Given the description of an element on the screen output the (x, y) to click on. 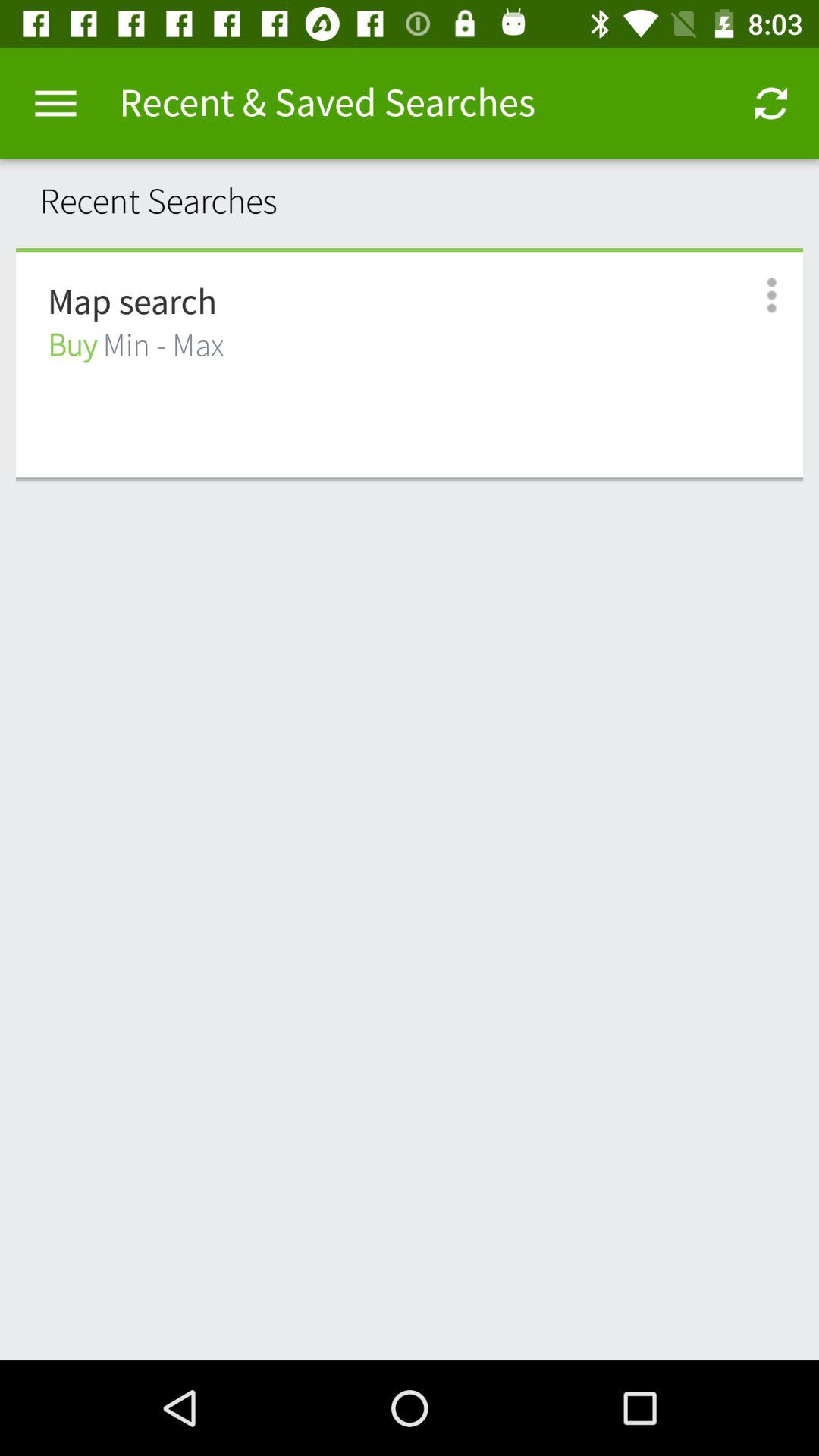
jump until map search (131, 302)
